Given the description of an element on the screen output the (x, y) to click on. 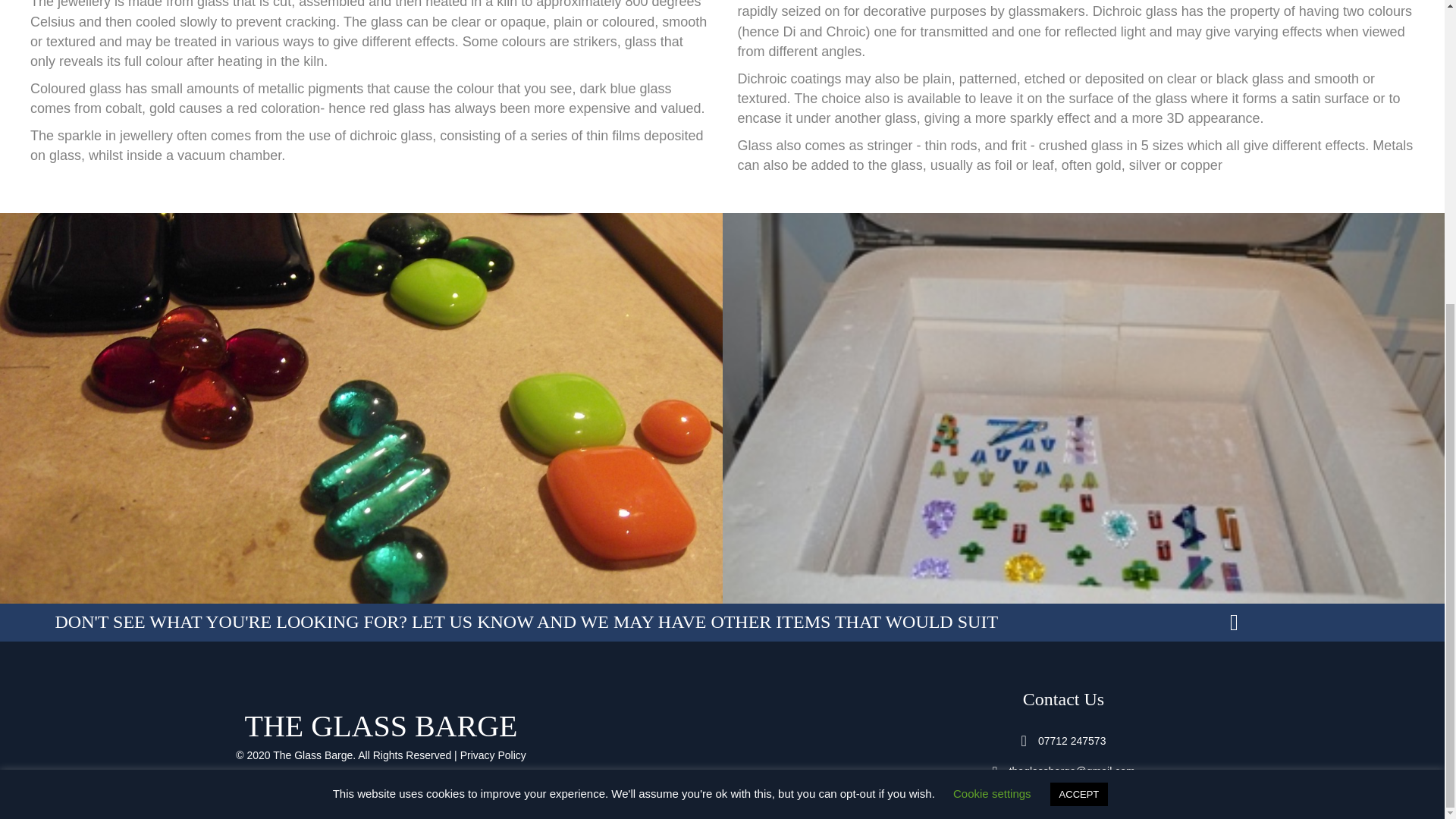
Cookie settings (991, 316)
THE GLASS BARGE (380, 725)
THE GLASS BARGE (380, 725)
Privacy Policy (492, 755)
07712 247573 (1072, 740)
ACCEPT (1078, 317)
